Given the description of an element on the screen output the (x, y) to click on. 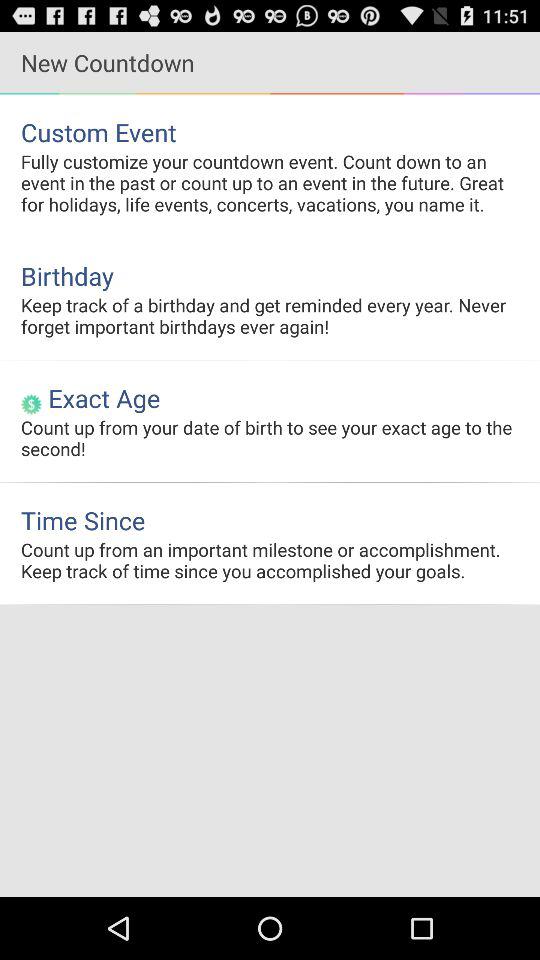
turn on app above fully customize your icon (270, 132)
